Given the description of an element on the screen output the (x, y) to click on. 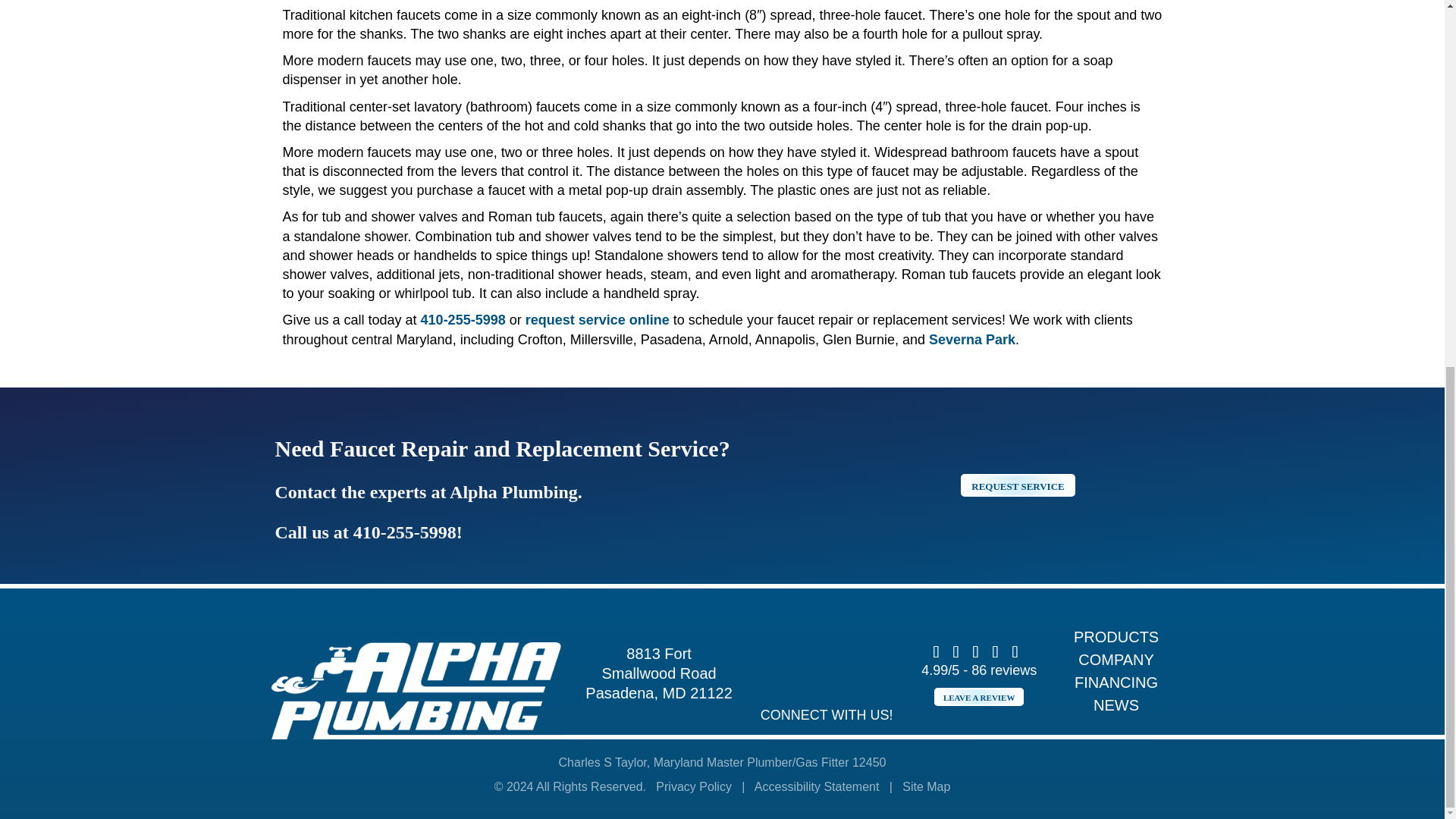
Alpha Logo - Header-clipped-2 (417, 690)
